Given the description of an element on the screen output the (x, y) to click on. 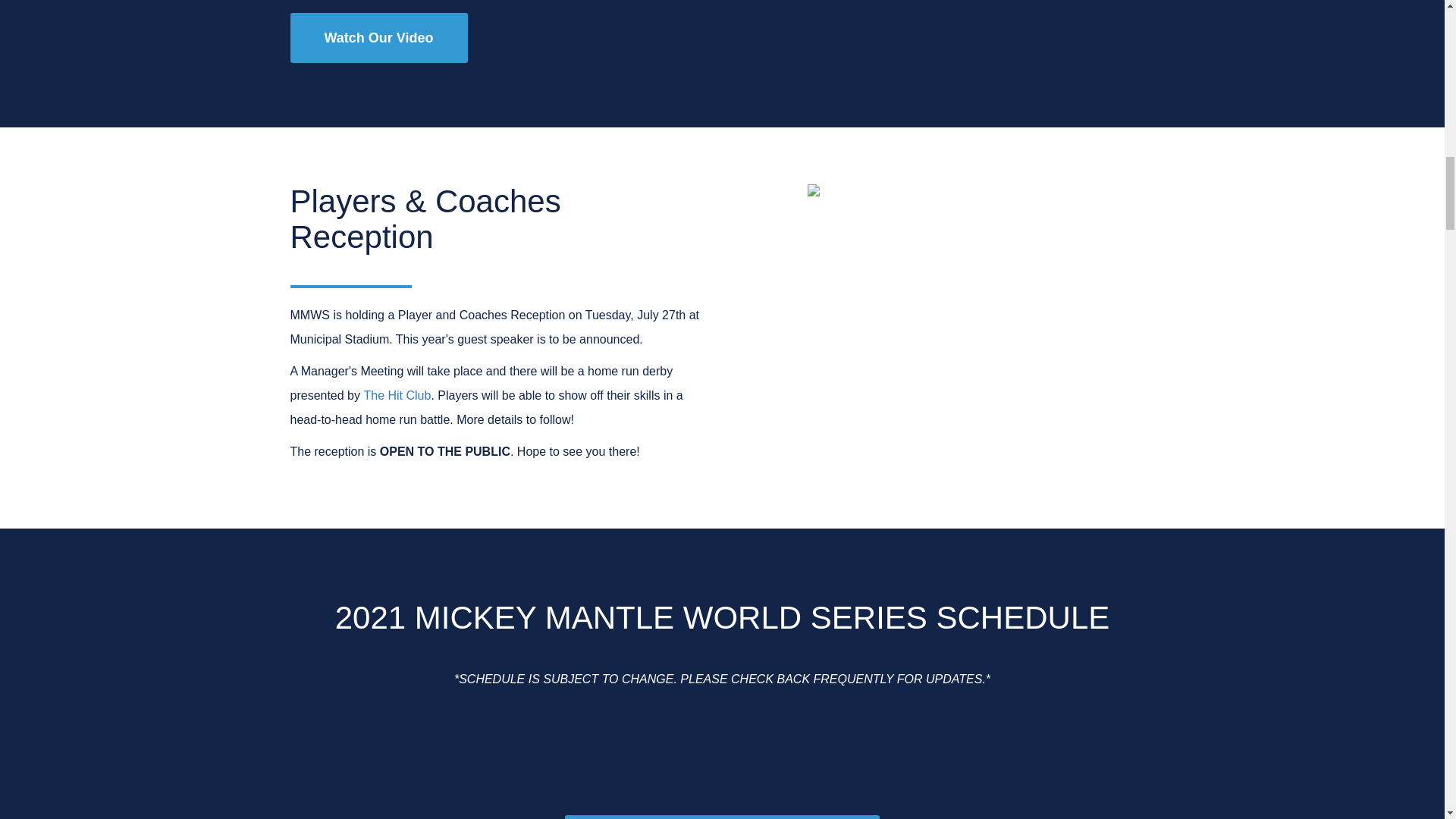
Watch Our Video (378, 38)
The Hit Club (396, 395)
VIEW FULL SCHEDULE AND SCORES (721, 816)
